Given the description of an element on the screen output the (x, y) to click on. 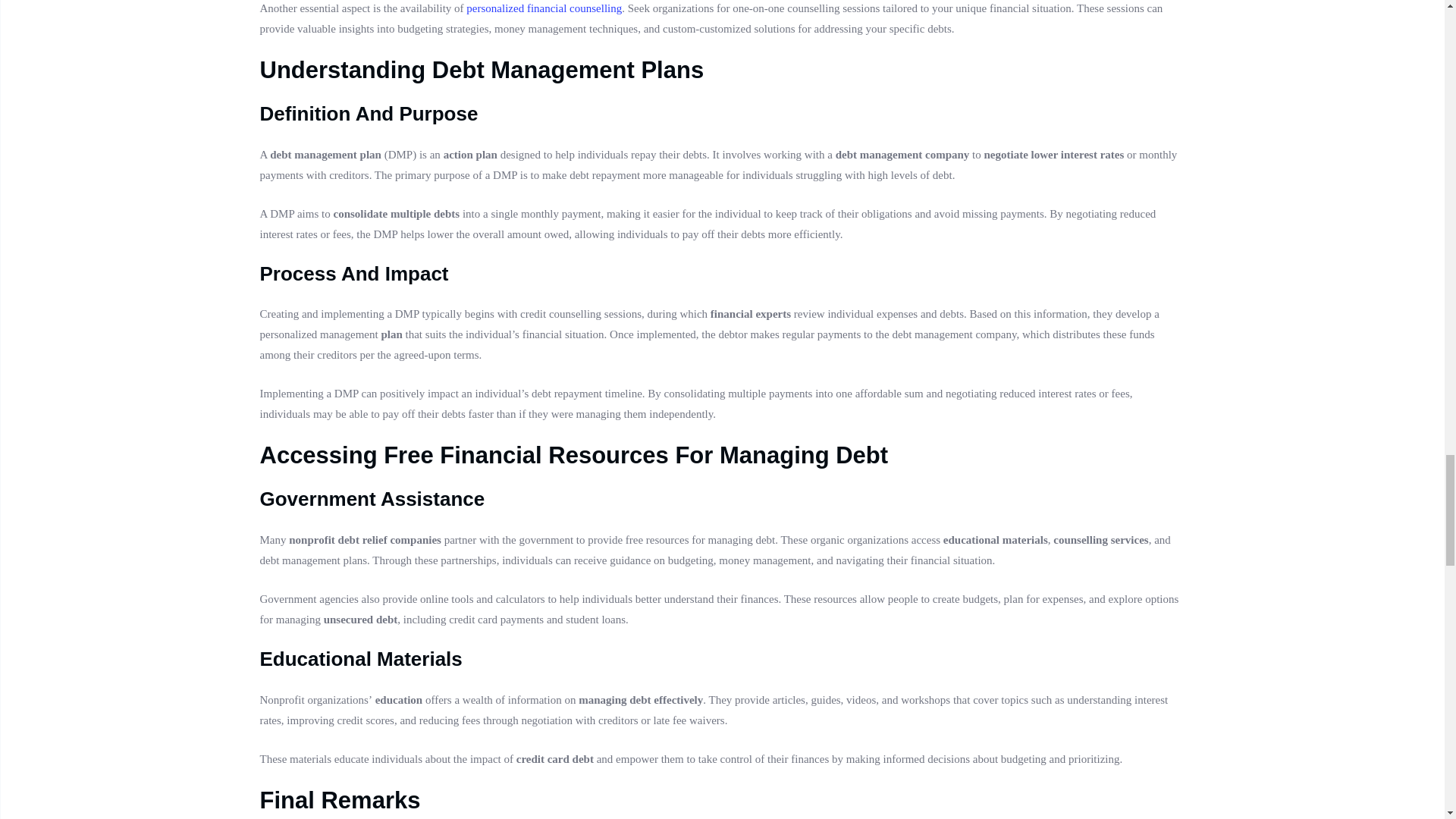
personalized financial counselling (543, 8)
